Given the description of an element on the screen output the (x, y) to click on. 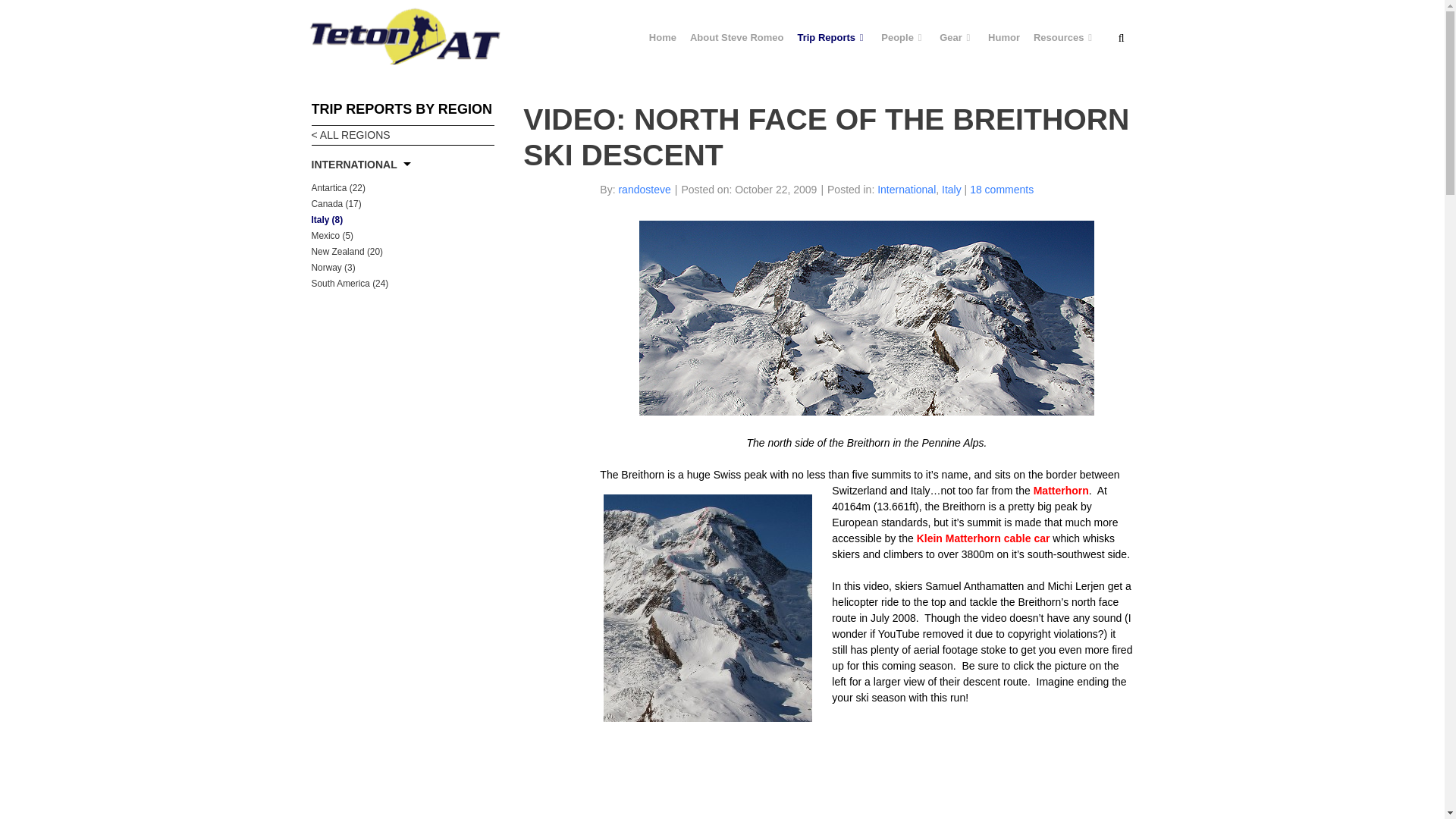
About Steve Romeo (736, 37)
The Matterhorn on Wikipedia (1061, 490)
Trip Reports (832, 37)
north-face-ski-descent-of-the-breithorn (707, 607)
International (353, 164)
Canada (336, 204)
Klein Matterhorn Calbe Car (983, 538)
New Zealand (346, 251)
Antartica (338, 187)
Home (662, 37)
Italy (326, 219)
Teton AT (404, 35)
Norway (333, 267)
the-breithorn (865, 318)
South America (349, 283)
